Given the description of an element on the screen output the (x, y) to click on. 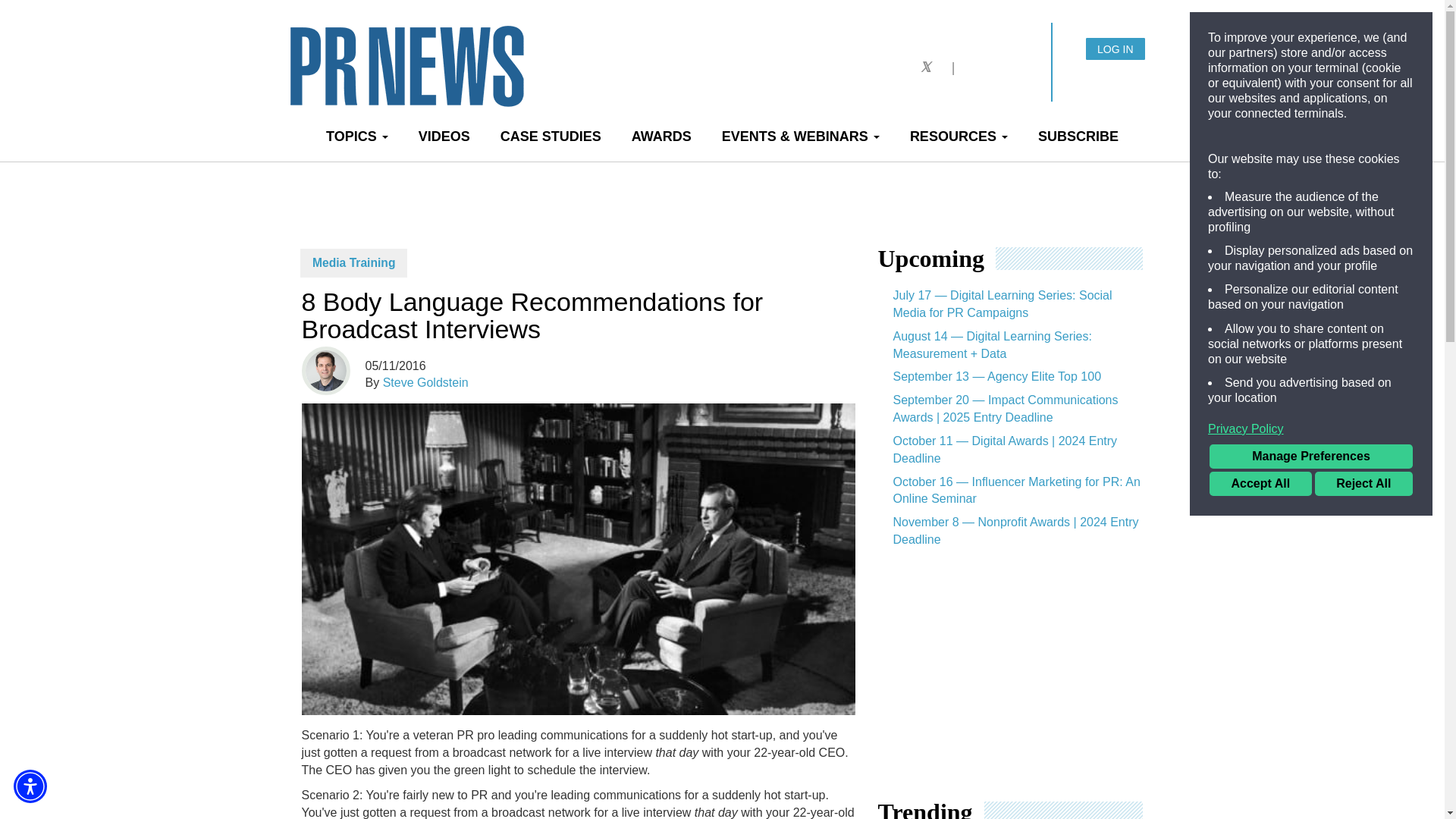
PRNEWS (458, 78)
Digital Learning Series: Social Media for PR Campaigns (1009, 304)
Influencer Marketing for PR: An Online Seminar (1009, 491)
LOG IN (1115, 48)
AWARDS (660, 136)
VIDEOS (443, 136)
Privacy Policy (1310, 428)
TOPICS (357, 136)
Accept All (1260, 483)
Accessibility Menu (29, 786)
Manage Preferences (1310, 456)
Reject All (1363, 483)
CASE STUDIES (549, 136)
Agency Elite Top 100 (1009, 376)
RESOURCES (959, 136)
